Given the description of an element on the screen output the (x, y) to click on. 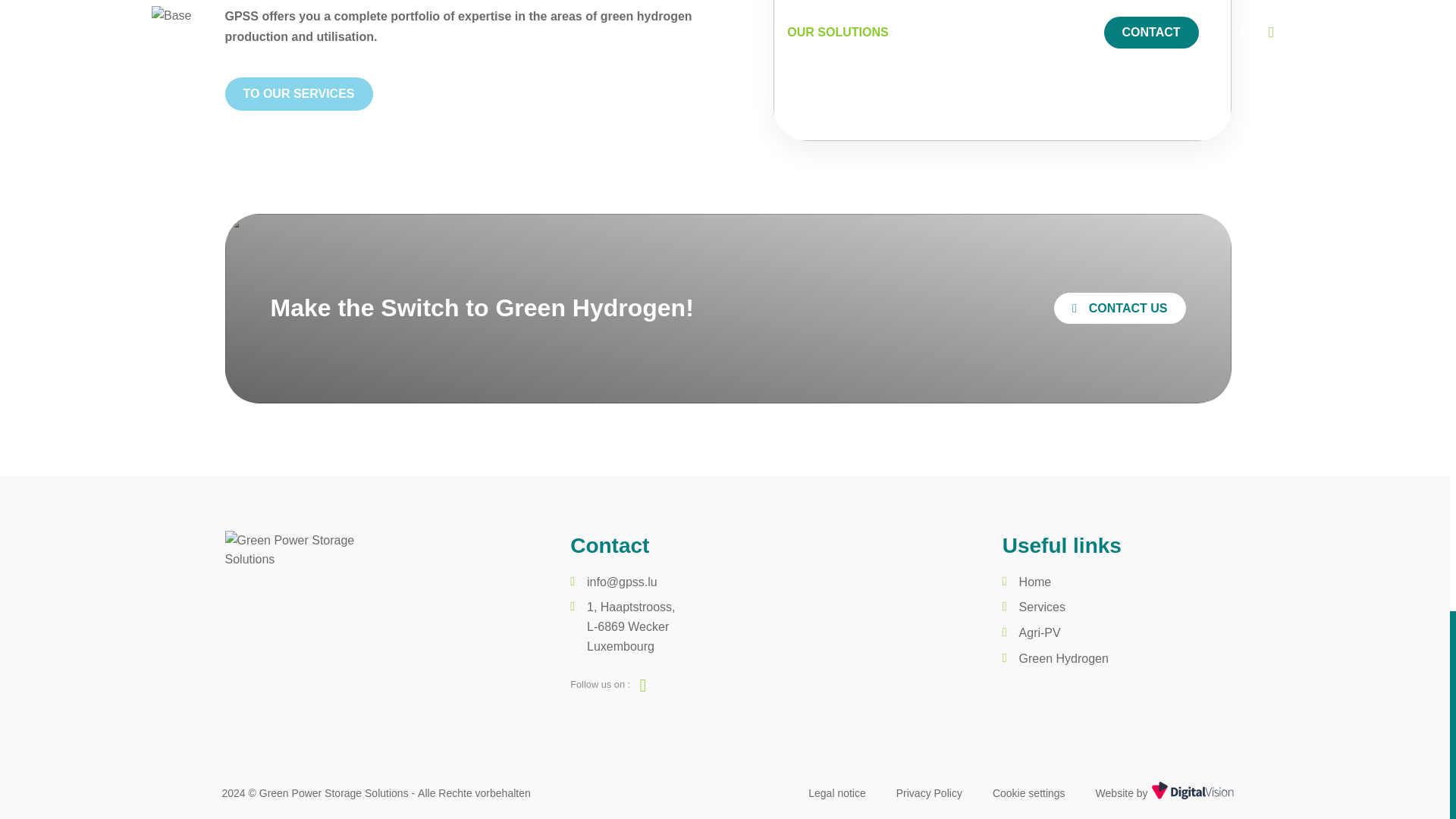
Legal notice (837, 792)
Privacy Policy (929, 792)
Green Hydrogen (1063, 659)
Cookie settings (1028, 792)
Agri-PV (1040, 632)
Follow us on Linkedin (643, 686)
Home (1035, 582)
TO OUR SERVICES (630, 626)
Services (298, 92)
CONTACT US (1042, 607)
